Given the description of an element on the screen output the (x, y) to click on. 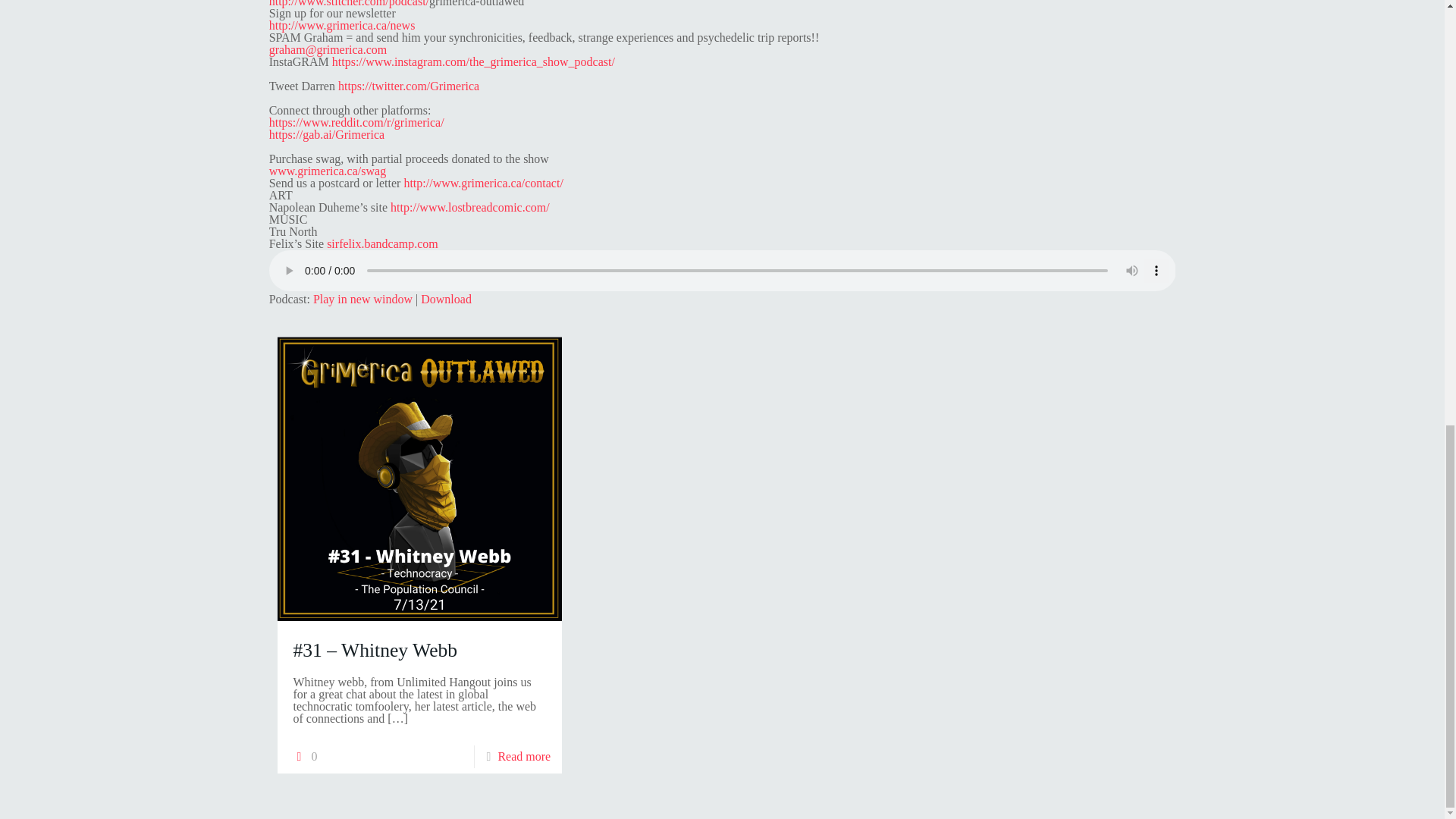
Play in new window (362, 298)
Download (445, 298)
